Given the description of an element on the screen output the (x, y) to click on. 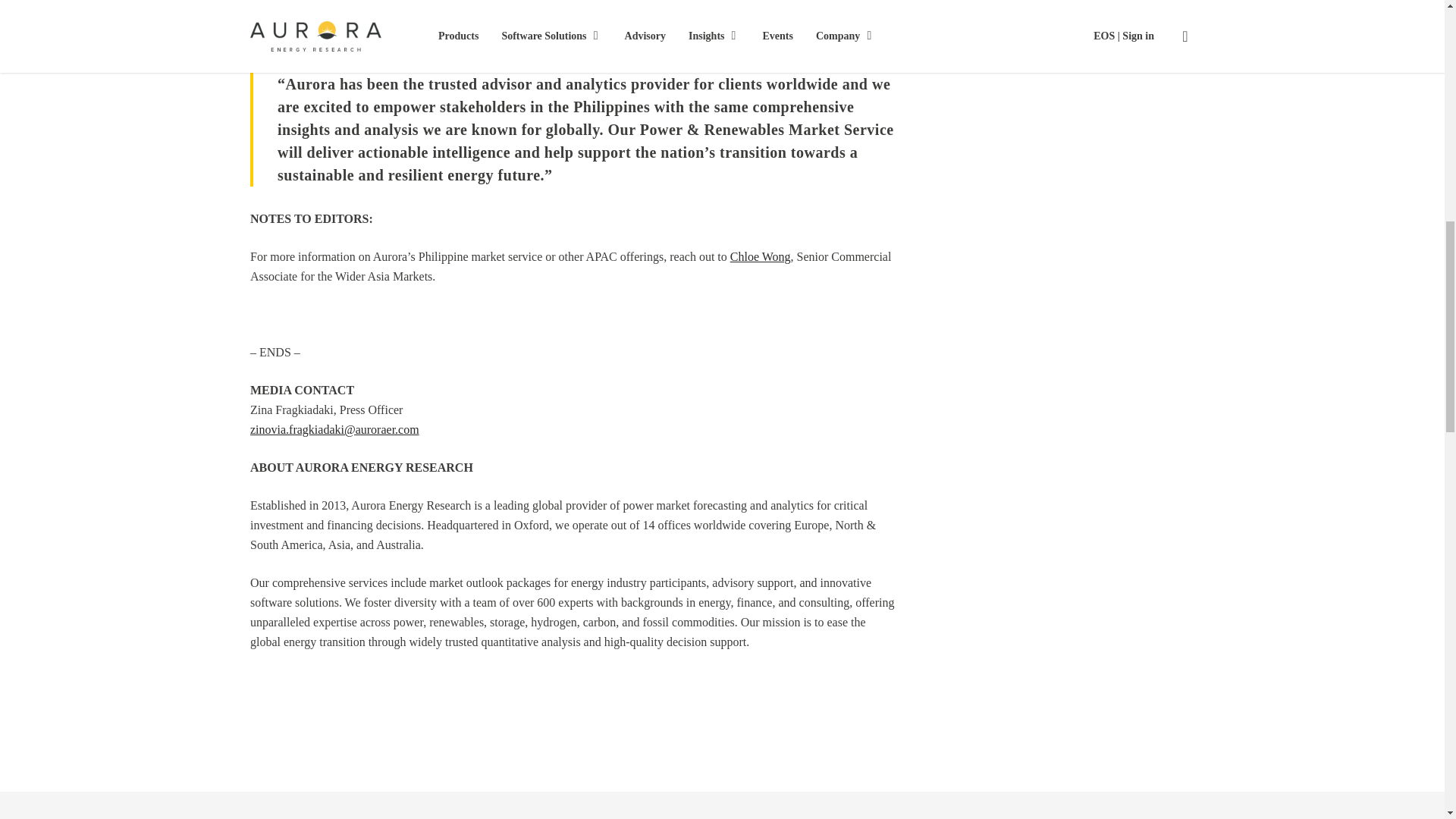
Chloe Wong (760, 256)
